Given the description of an element on the screen output the (x, y) to click on. 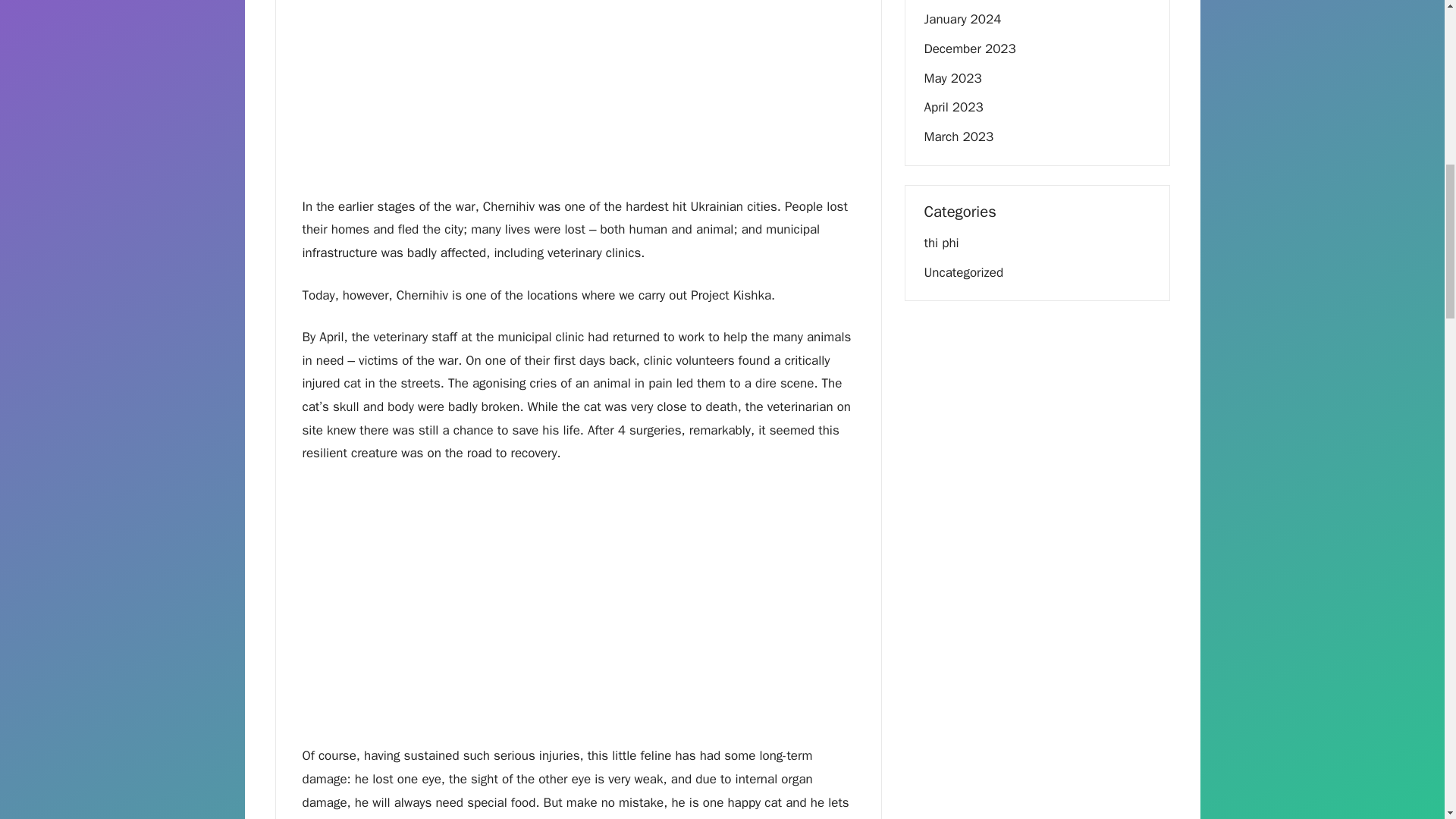
Advertisement (577, 94)
Advertisement (577, 590)
